Given the description of an element on the screen output the (x, y) to click on. 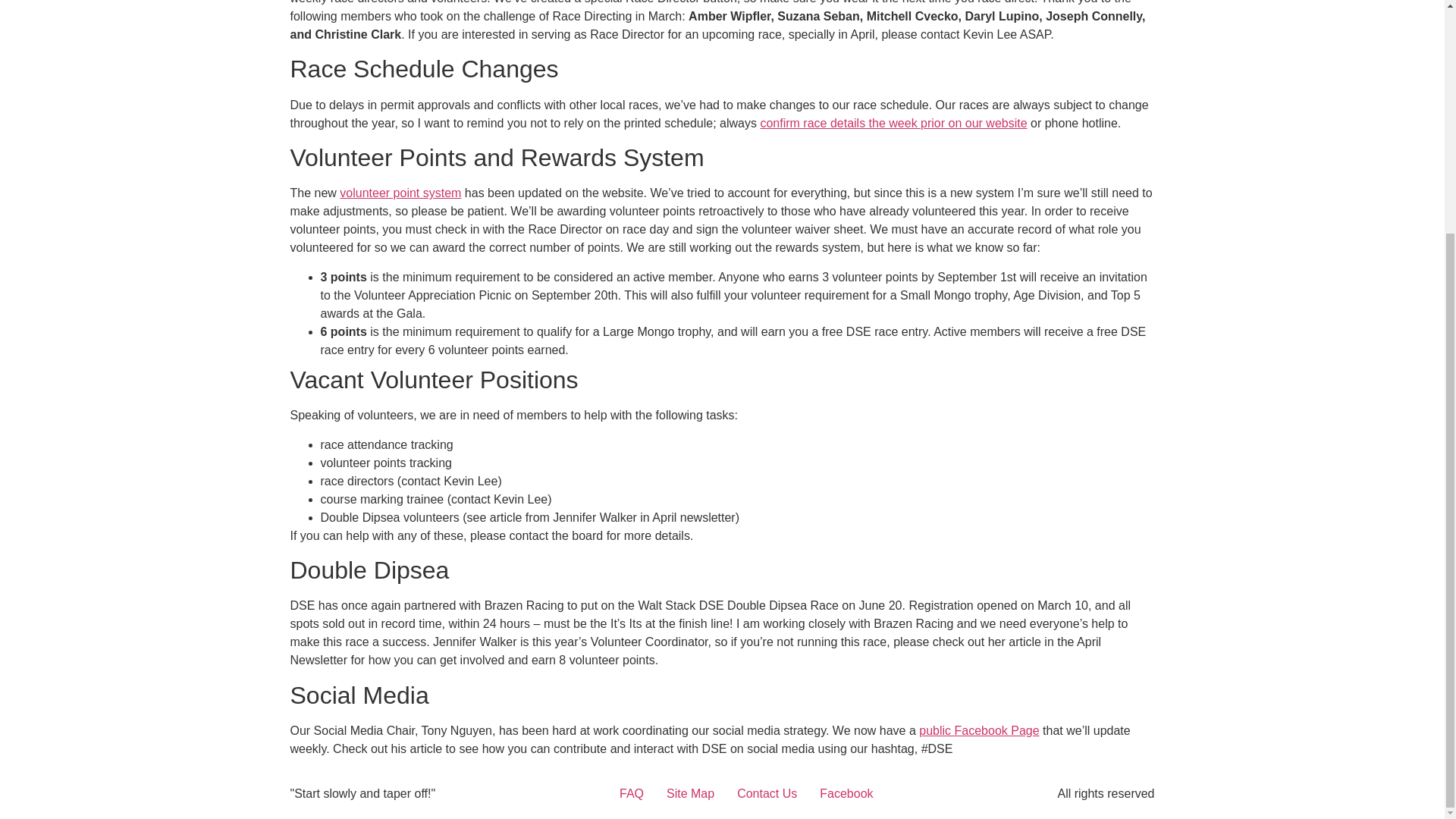
Calendar (893, 123)
Volunteer Points and Rewards (400, 192)
